Given the description of an element on the screen output the (x, y) to click on. 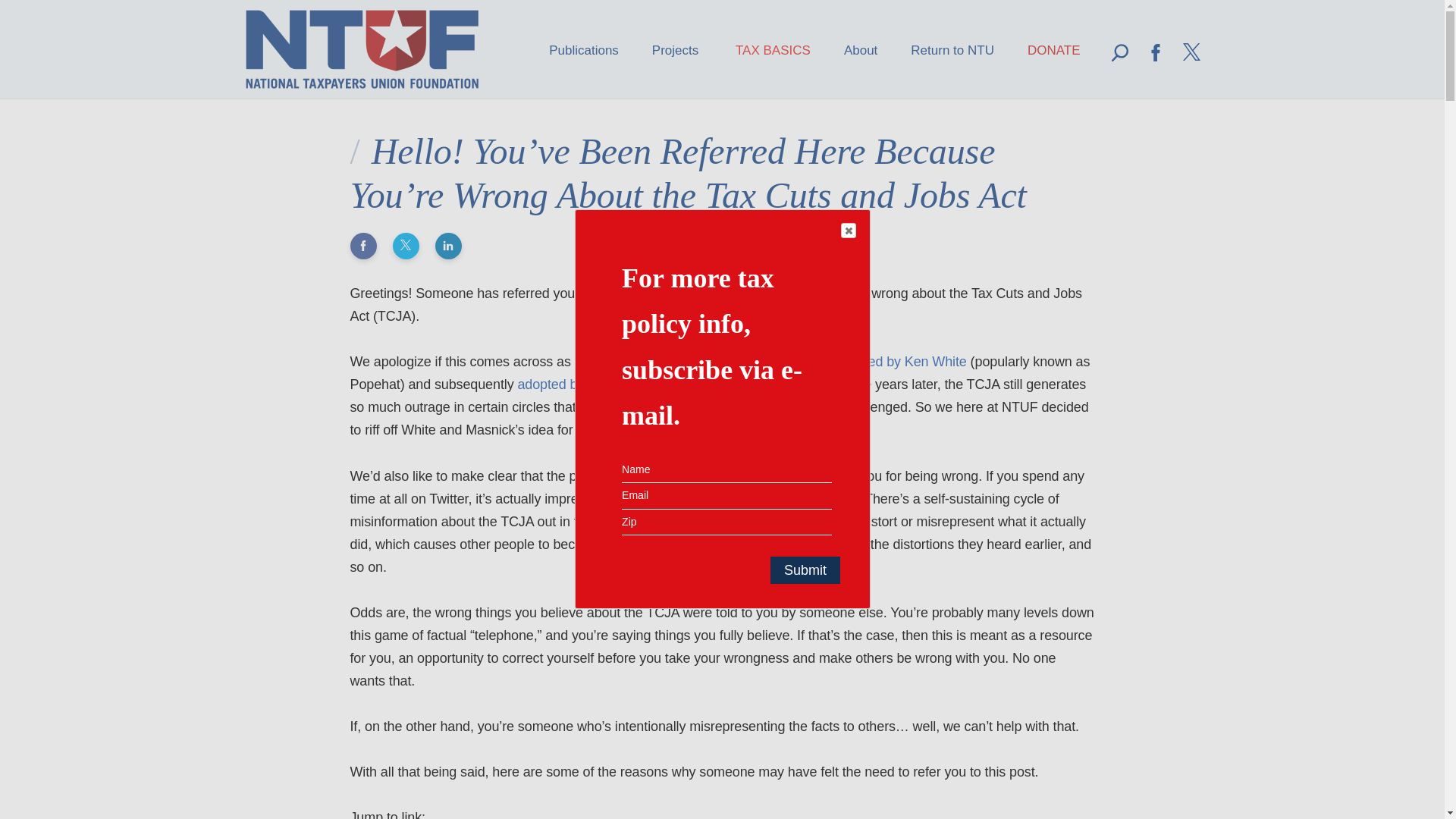
started by Ken White (903, 361)
Publications (583, 49)
NTUF (362, 48)
Search (1160, 70)
Projects (676, 49)
DONATE (1053, 49)
About (861, 49)
Return to NTU (951, 49)
TAX BASICS (772, 49)
